Given the description of an element on the screen output the (x, y) to click on. 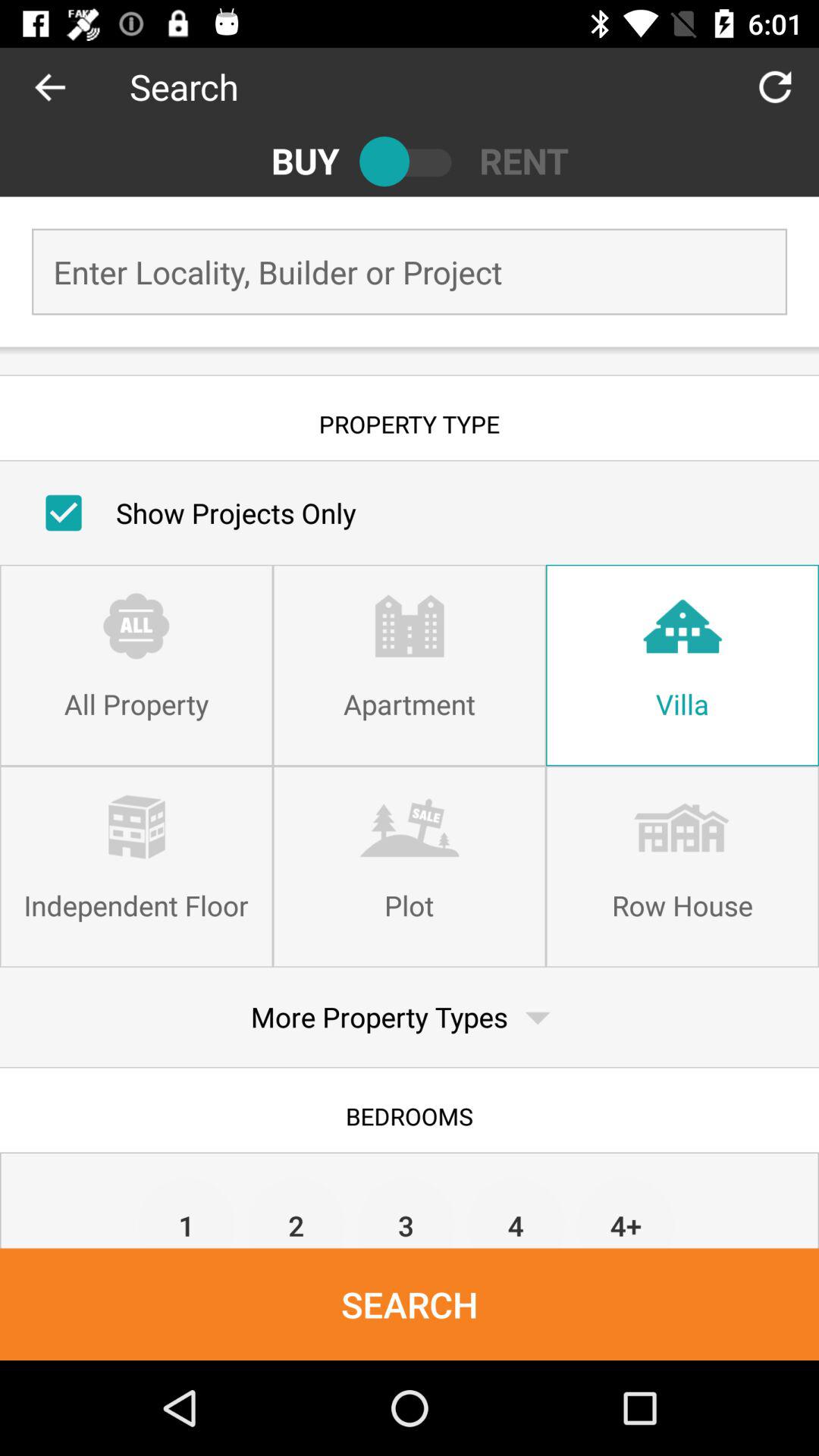
launch item next to 1 item (296, 1212)
